Given the description of an element on the screen output the (x, y) to click on. 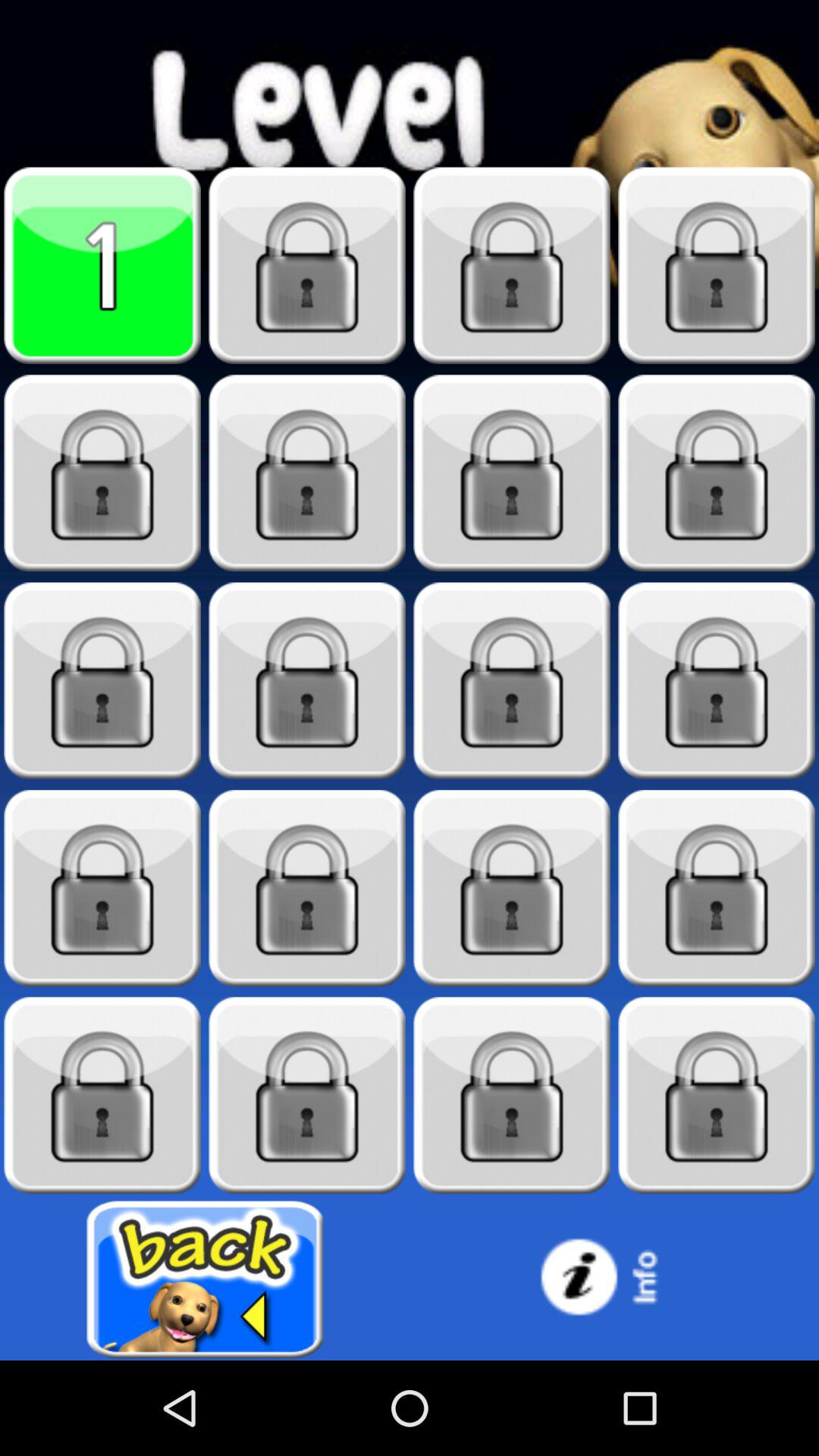
information (614, 1279)
